Given the description of an element on the screen output the (x, y) to click on. 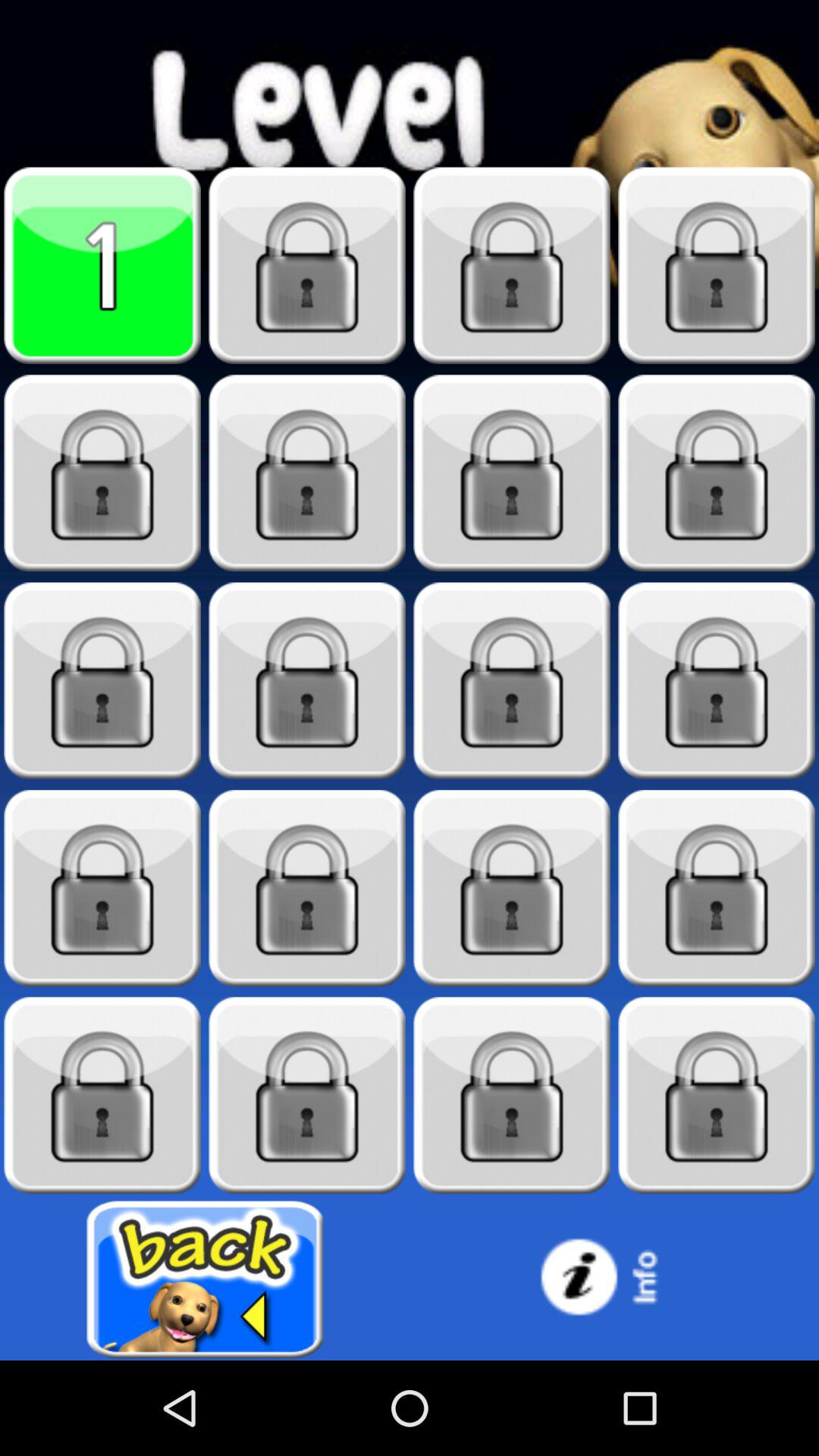
information (614, 1279)
